Given the description of an element on the screen output the (x, y) to click on. 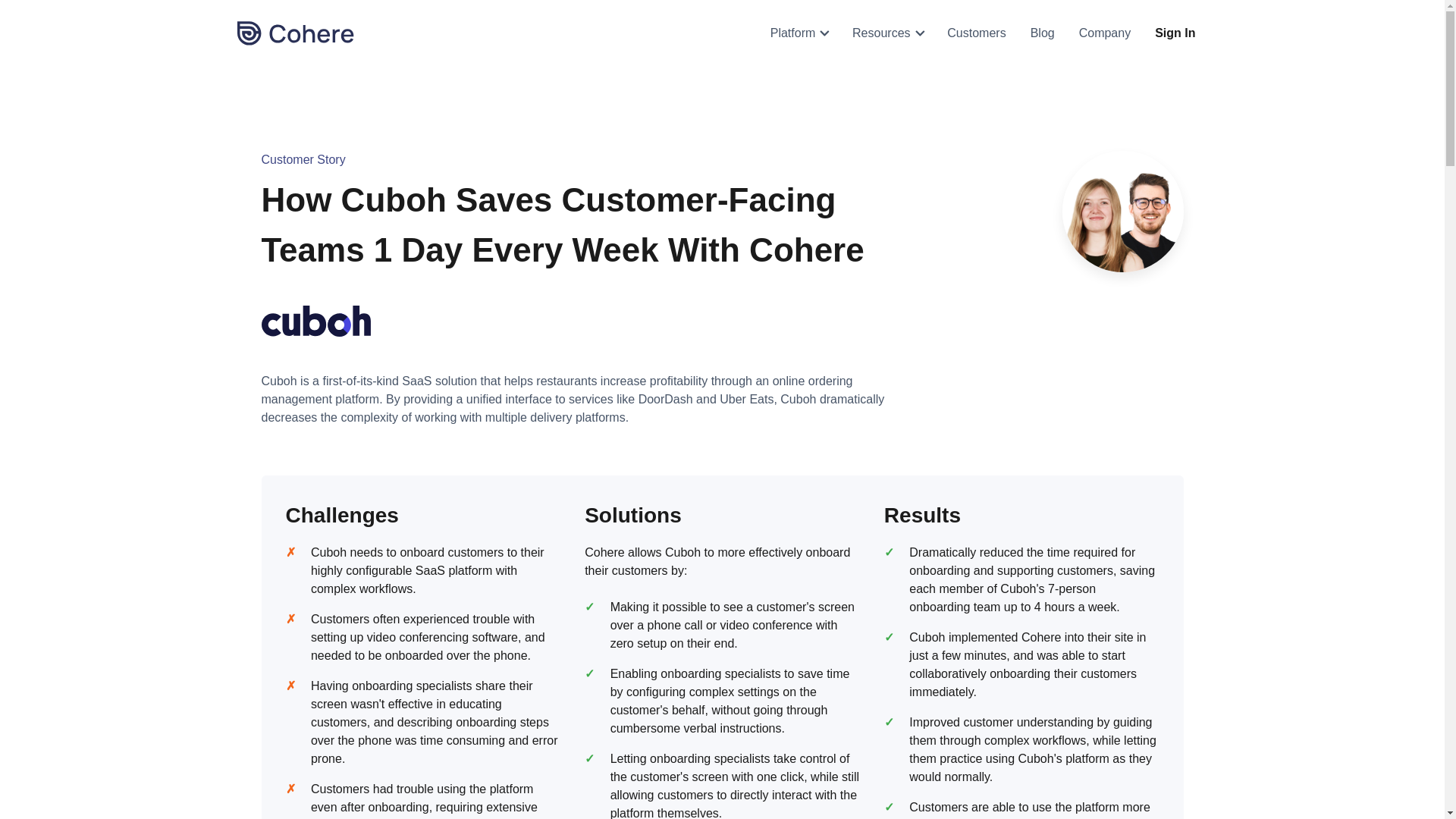
Blog (1042, 33)
Customers (975, 33)
Company (1104, 33)
